Given the description of an element on the screen output the (x, y) to click on. 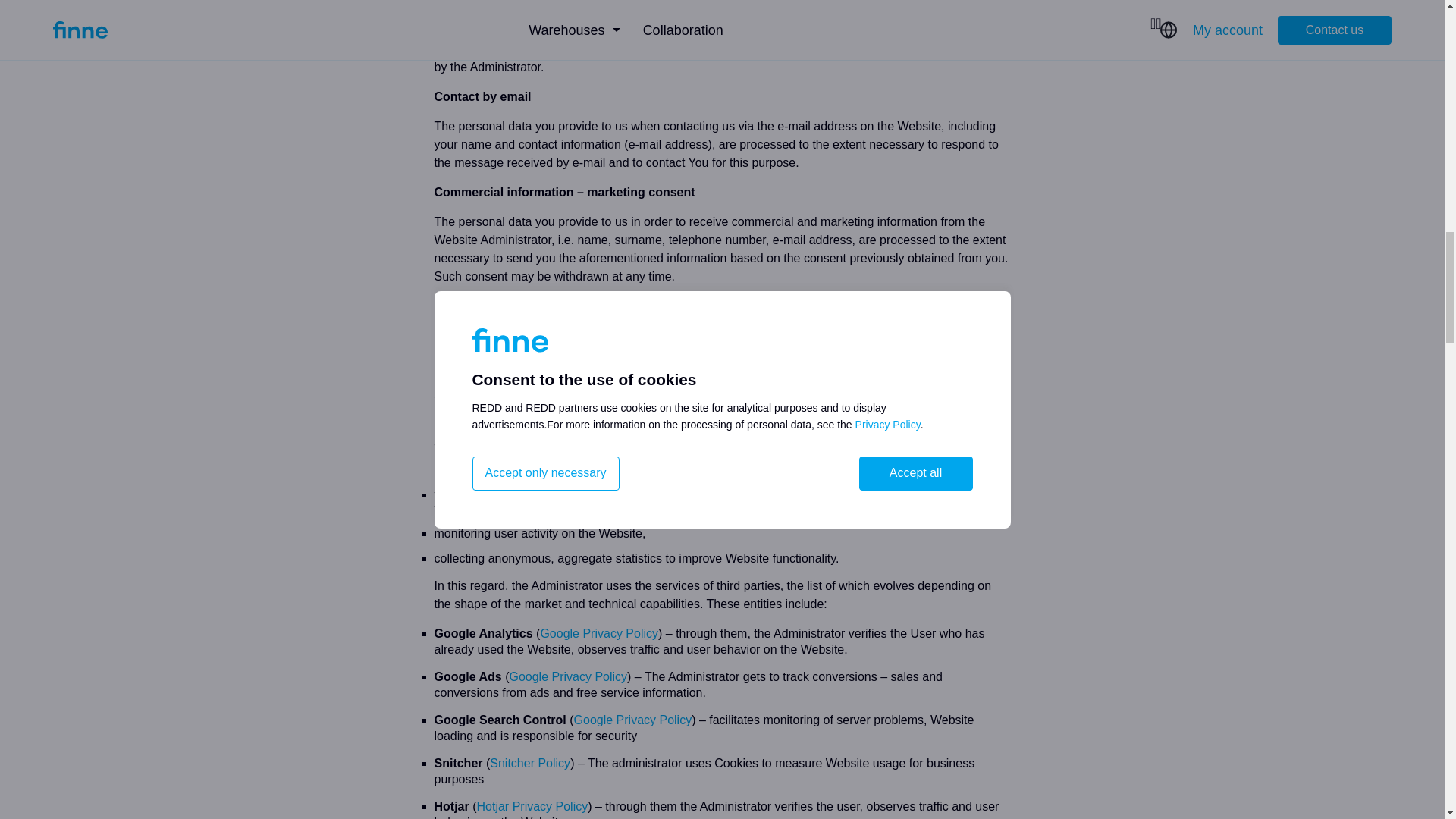
Google Privacy Policy (599, 633)
Hotjar Privacy Policy (532, 806)
Google Privacy Policy (633, 719)
Google Privacy Policy (567, 676)
Snitcher Policy (529, 762)
